Given the description of an element on the screen output the (x, y) to click on. 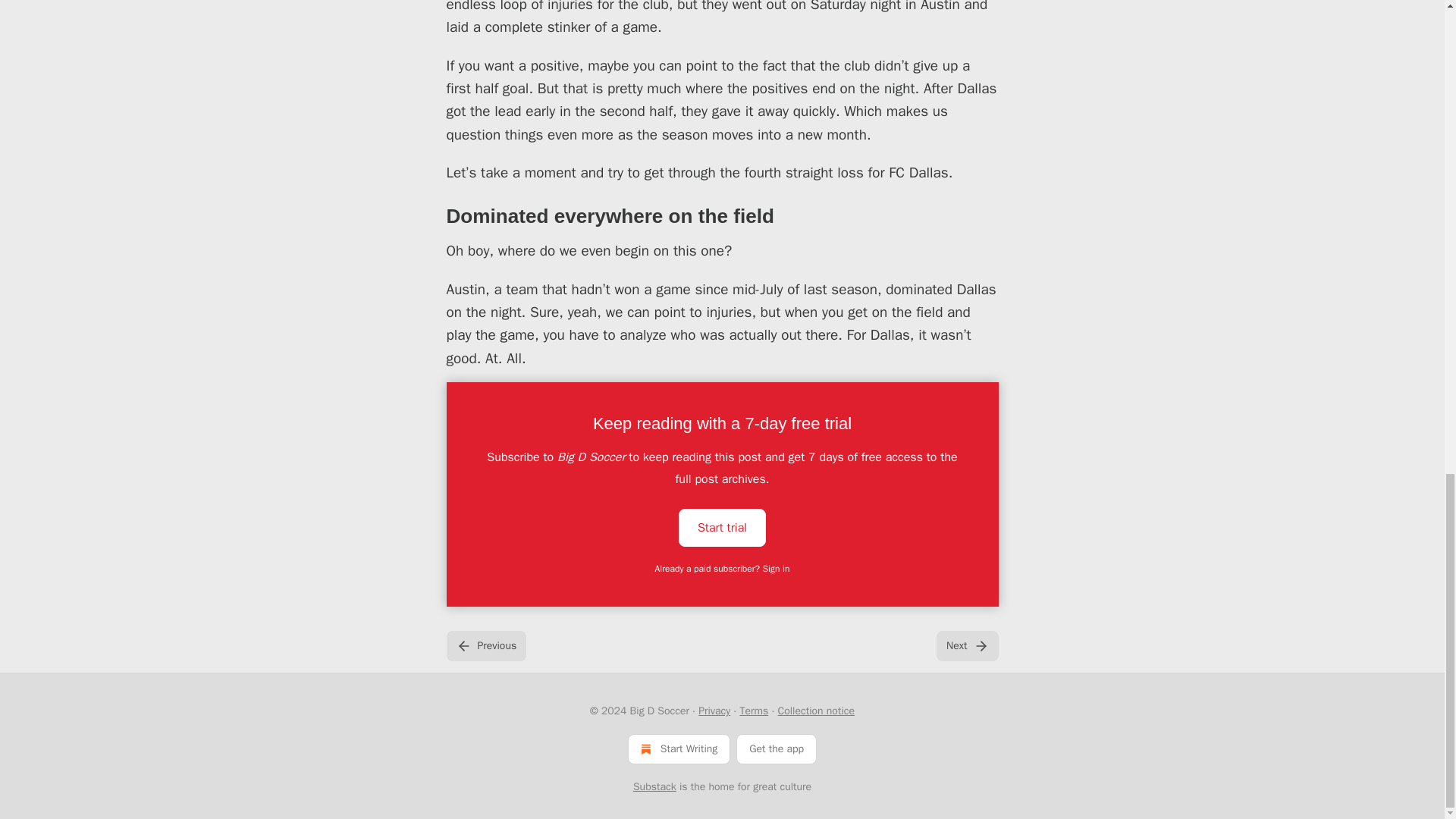
Start Writing (678, 748)
Start trial (721, 527)
Get the app (776, 748)
Previous (485, 645)
Already a paid subscriber? Sign in (722, 568)
Start trial (721, 526)
Next (966, 645)
Substack (655, 786)
Terms (753, 710)
Collection notice (815, 710)
Privacy (714, 710)
